Given the description of an element on the screen output the (x, y) to click on. 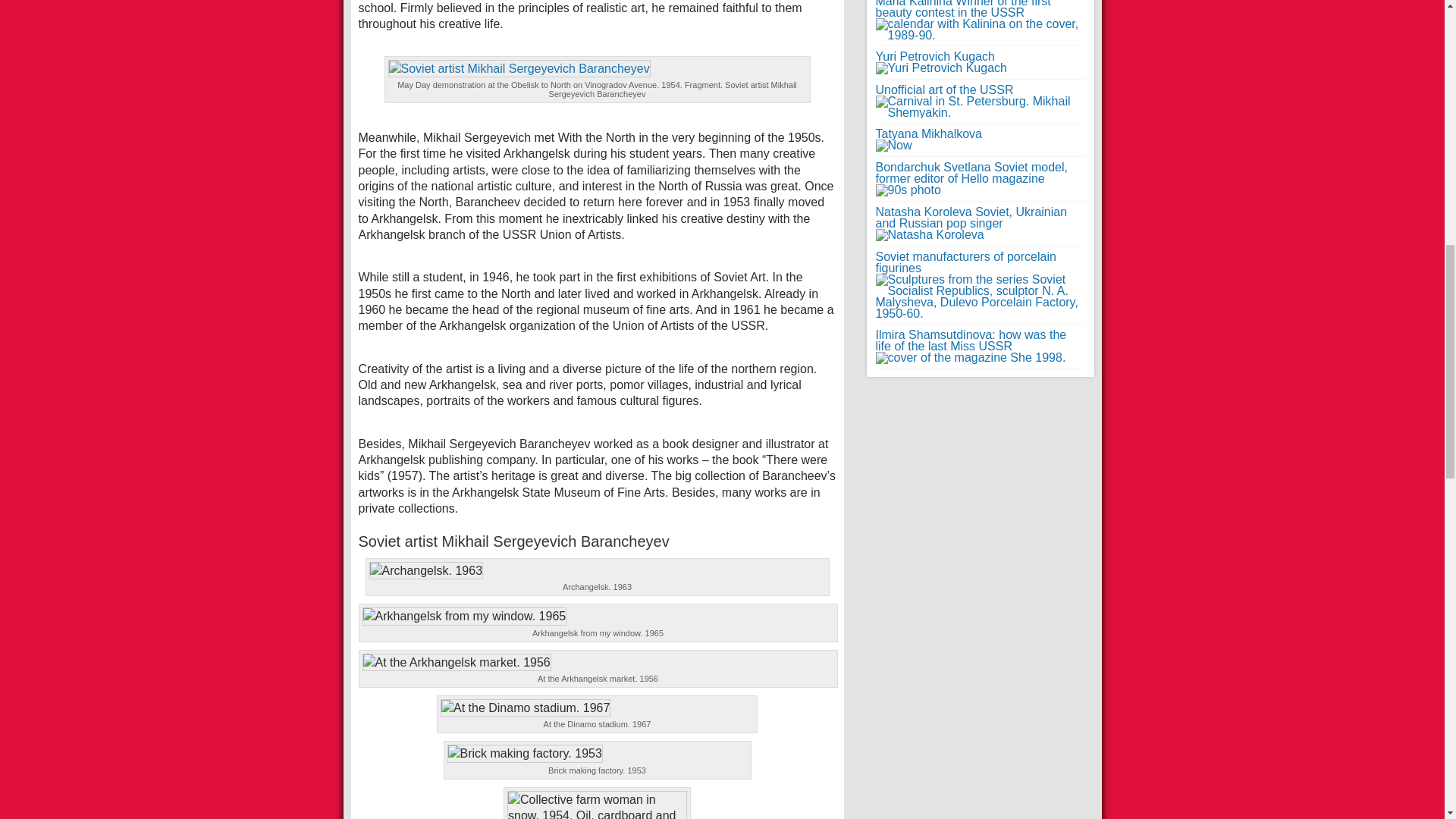
Tatyana Mikhalkova (928, 139)
Natasha Koroleva Soviet, Ukrainian and Russian pop singer (971, 222)
Yuri Petrovich Kugach (940, 61)
Soviet manufacturers of porcelain figurines (979, 285)
Unofficial art of the USSR (979, 100)
Ilmira Shamsutdinova: how was the life of the last Miss USSR (970, 345)
